Given the description of an element on the screen output the (x, y) to click on. 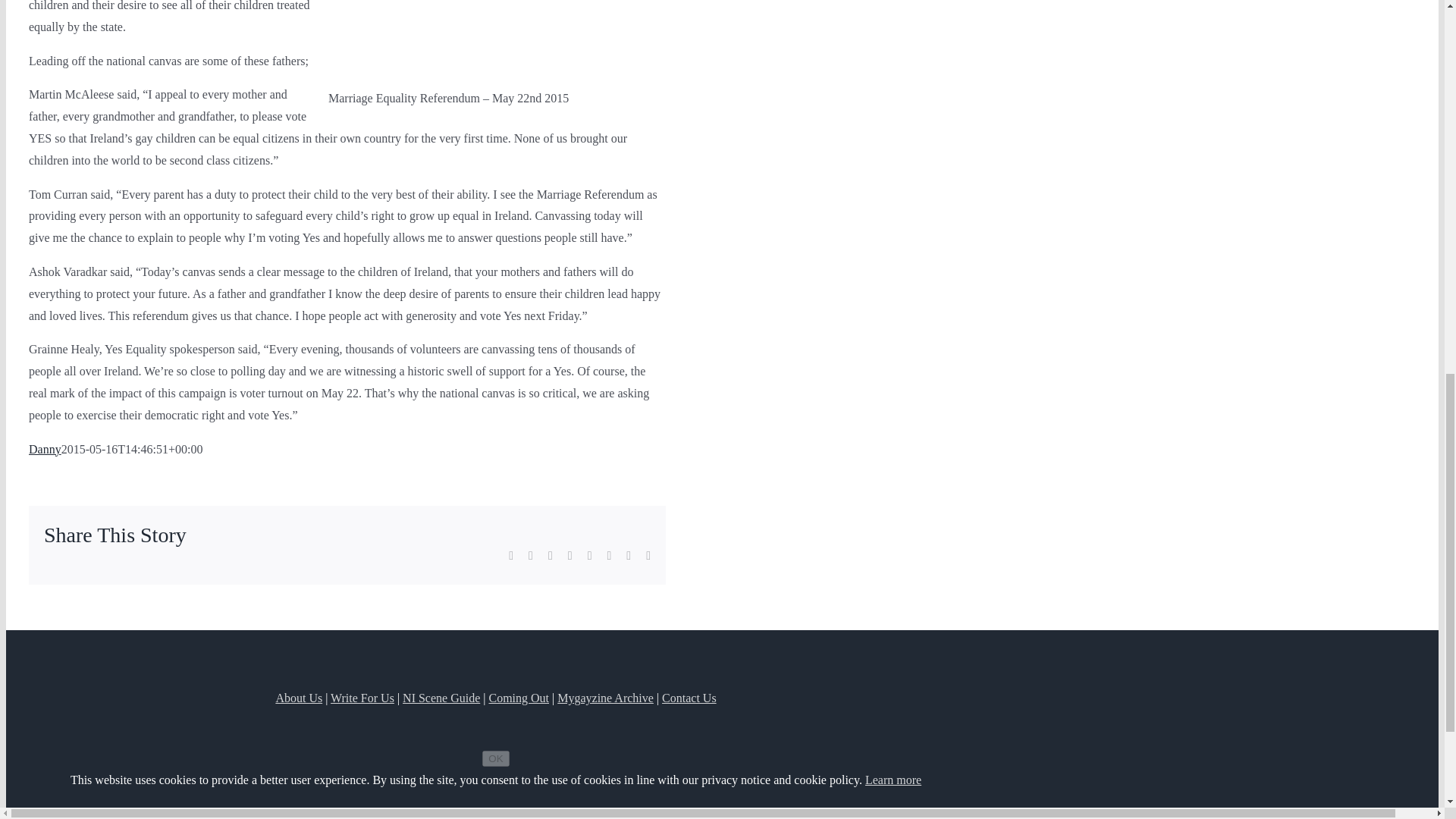
Danny (45, 449)
Coming Out (517, 697)
Contact Us (689, 697)
About Us (298, 697)
Posts by Danny (45, 449)
NI Scene Guide (441, 697)
OK (494, 758)
Write For Us (362, 697)
Mygayzine Archive (605, 697)
